Given the description of an element on the screen output the (x, y) to click on. 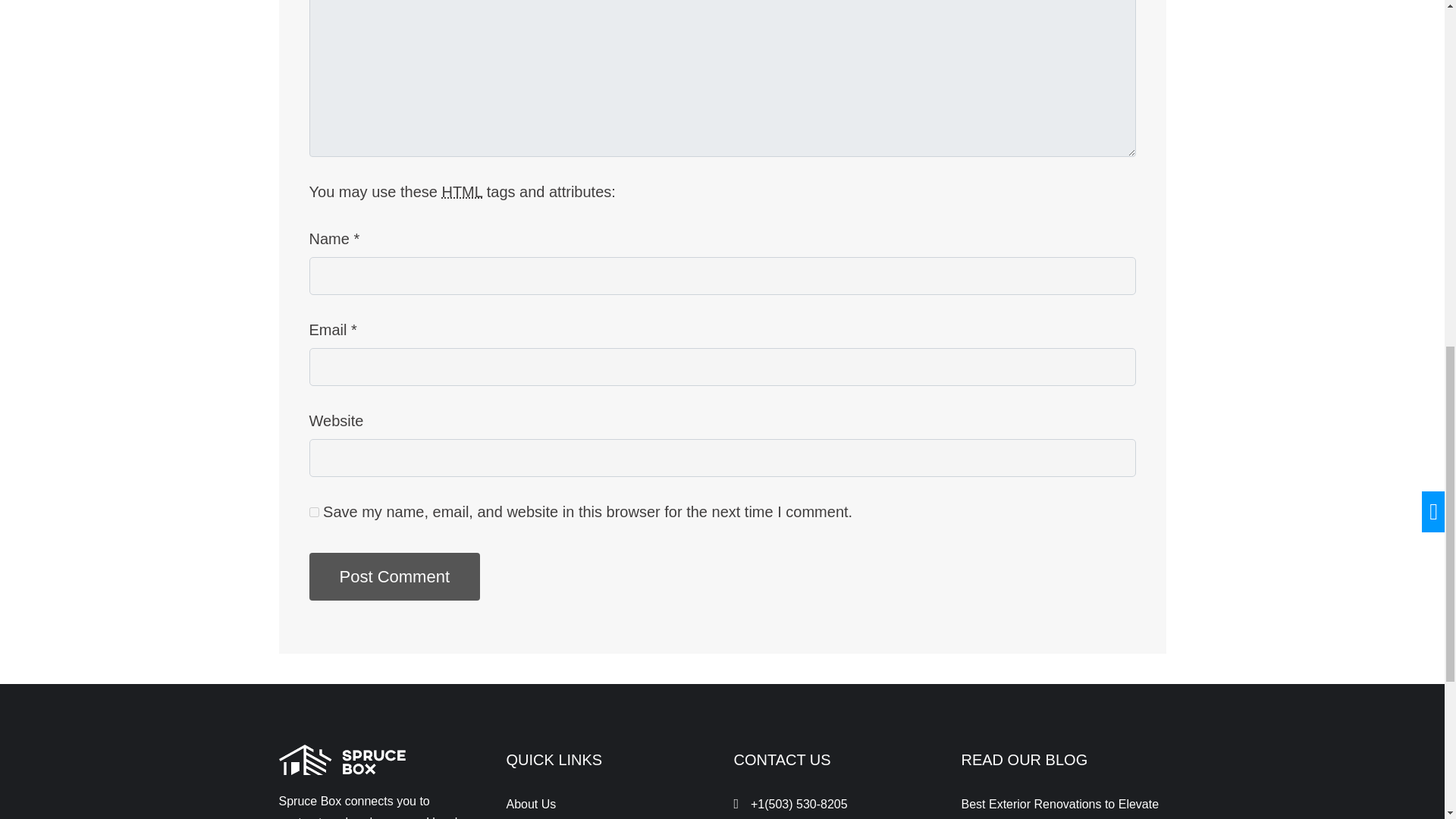
Post Comment (394, 576)
yes (313, 511)
Post Comment (394, 576)
